Given the description of an element on the screen output the (x, y) to click on. 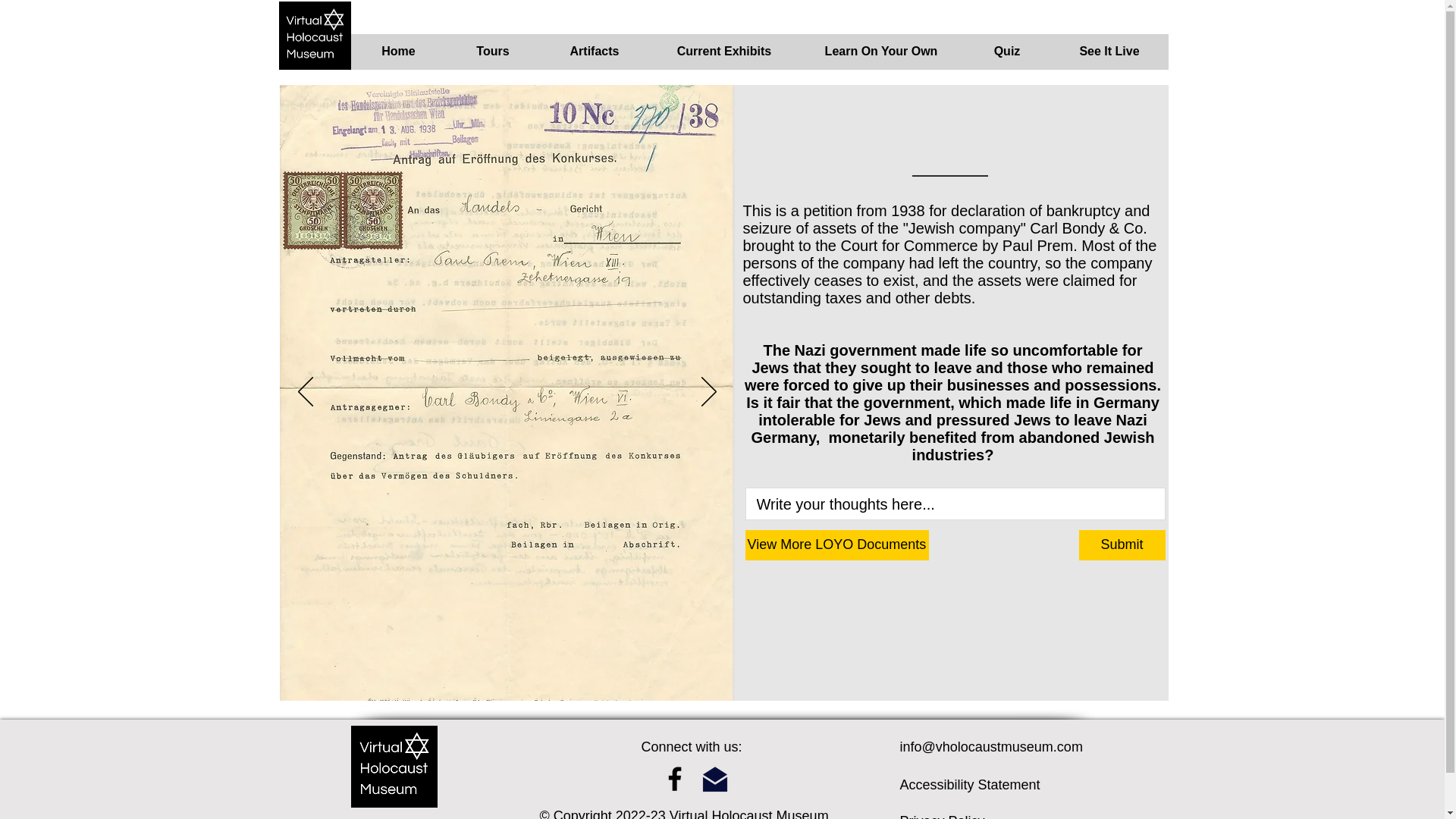
Home (397, 56)
See It Live (1110, 56)
Artifacts (594, 56)
Quiz (1005, 56)
Privacy Policy (941, 816)
Current Exhibits (723, 56)
Learn On Your Own (881, 56)
View More LOYO Documents (836, 544)
Tours (491, 56)
Accessibility Statement (969, 784)
